Given the description of an element on the screen output the (x, y) to click on. 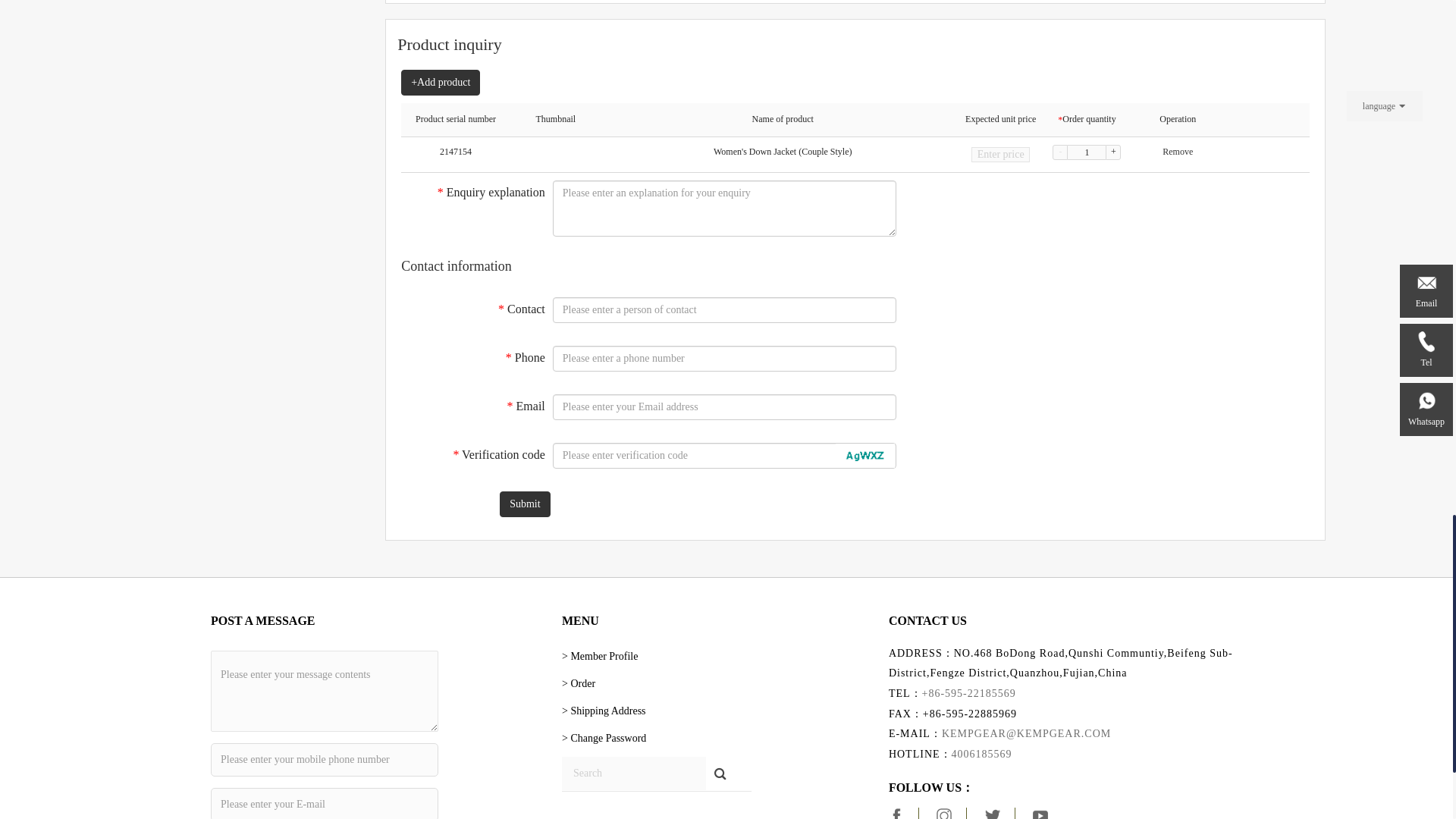
1 (1086, 151)
